Given the description of an element on the screen output the (x, y) to click on. 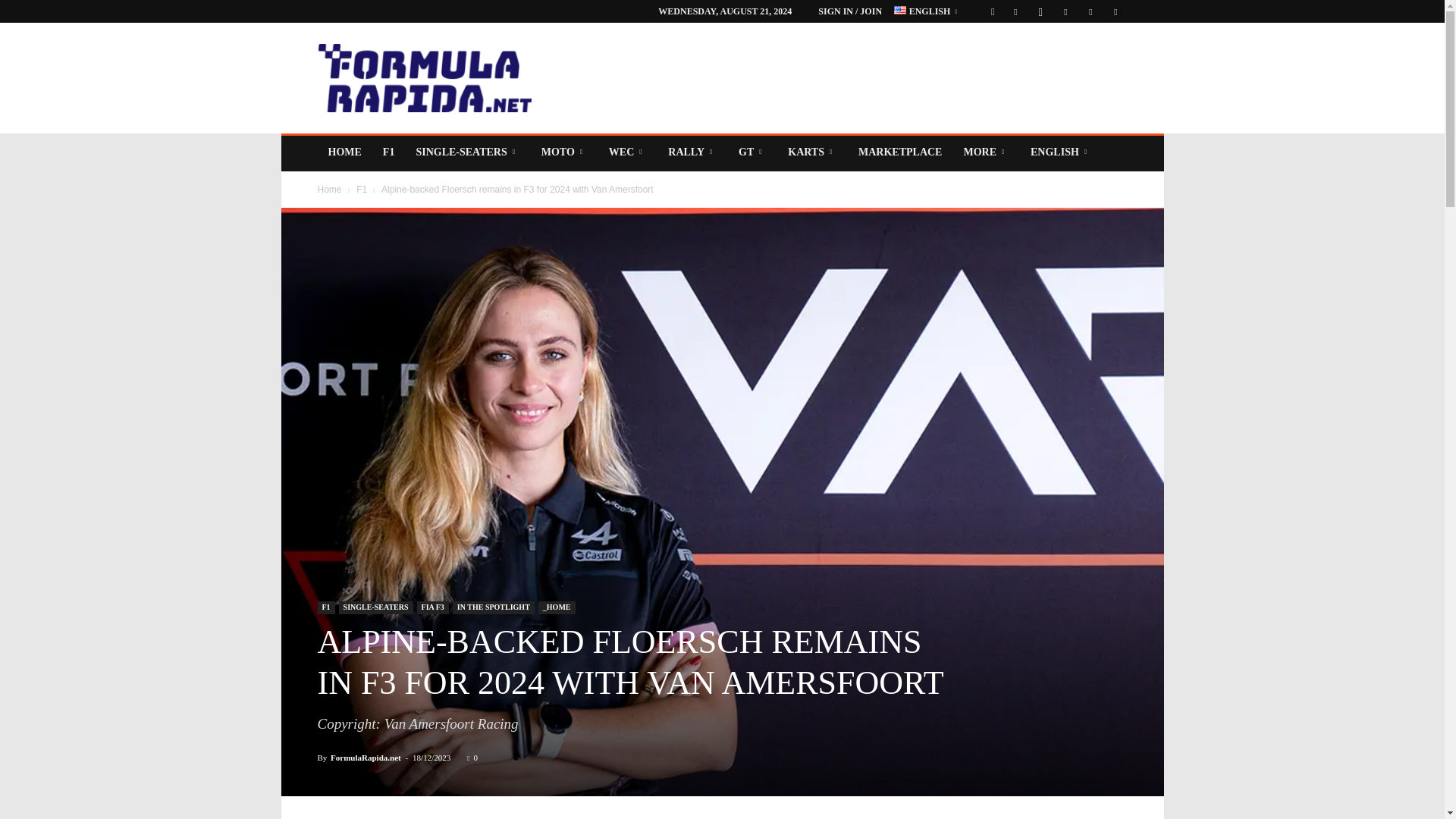
Facebook (1015, 11)
Instagram (1040, 11)
Advertisement (850, 78)
Linkedin (1065, 11)
View all posts in F1 (361, 189)
Youtube (1114, 11)
Twitter (1090, 11)
